Given the description of an element on the screen output the (x, y) to click on. 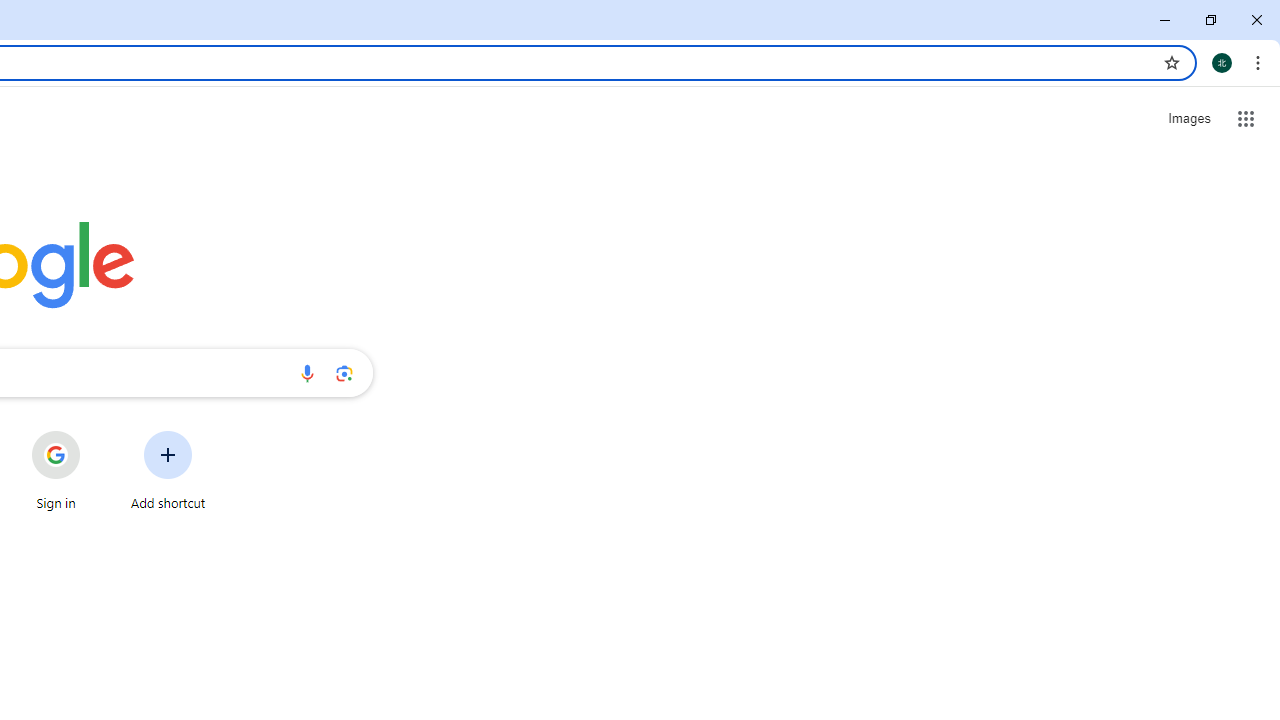
Style Set (564, 188)
Page Color (1080, 161)
Fonts (678, 161)
Lines (Stylish) (173, 160)
Watermark (997, 161)
Paragraph Spacing (819, 126)
Sign in (1012, 32)
Word (497, 160)
